Given the description of an element on the screen output the (x, y) to click on. 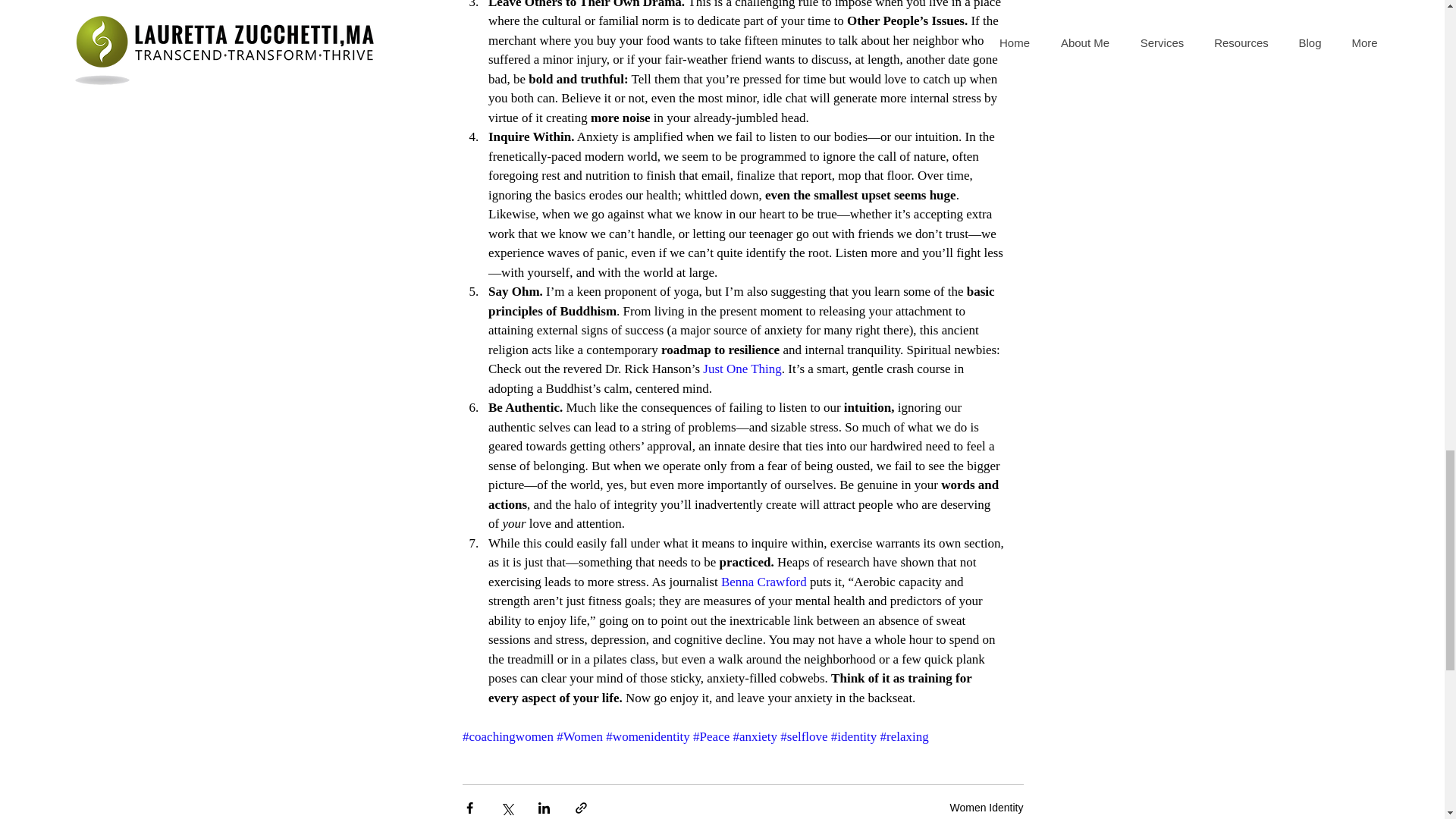
Just One Thing (742, 368)
Benna Crawford (763, 581)
Women Identity (986, 806)
